Given the description of an element on the screen output the (x, y) to click on. 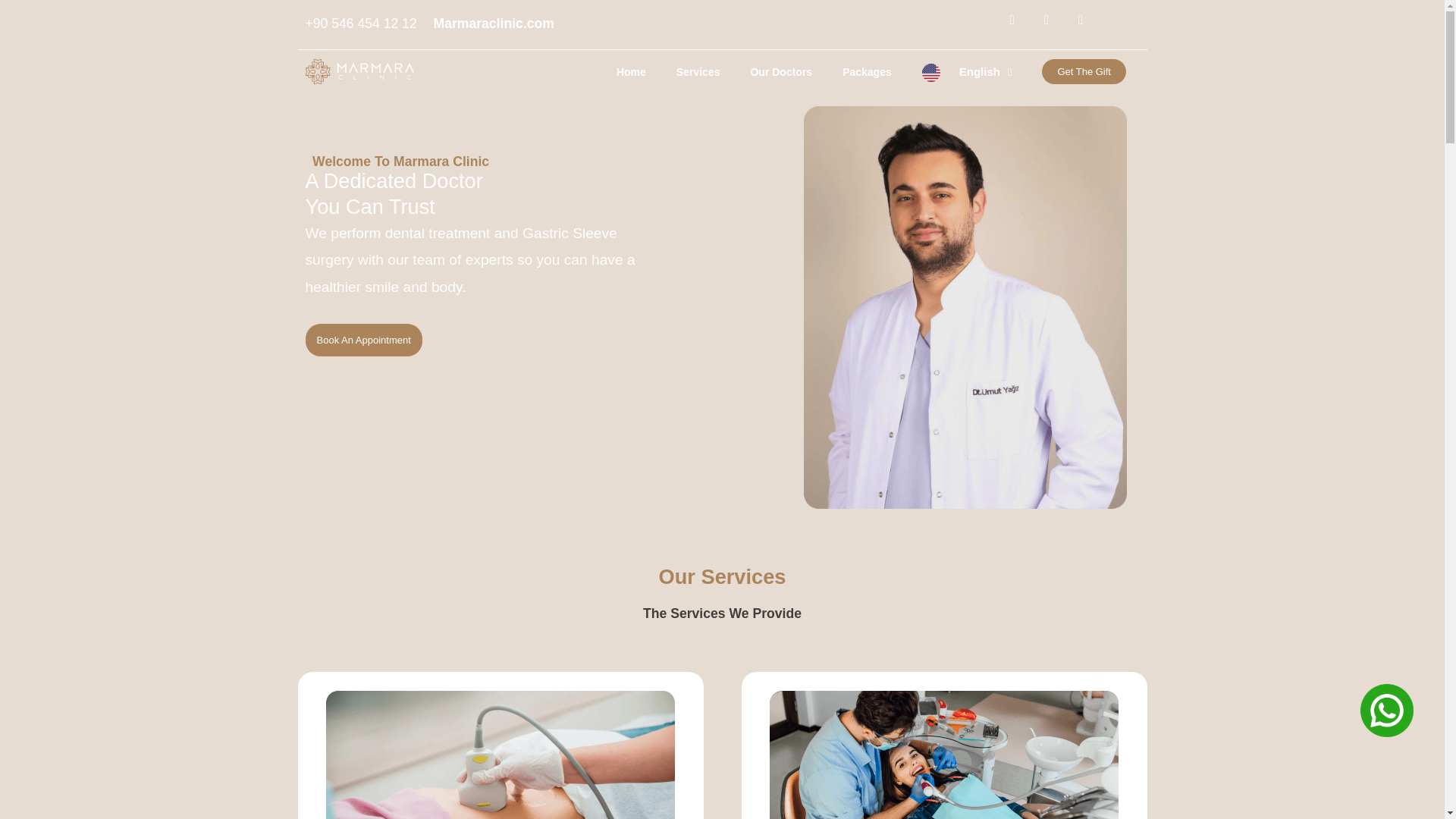
Our Doctors (781, 71)
Services (698, 71)
Get The Gift (1083, 71)
Book An Appointment (363, 339)
Home (631, 71)
English (967, 71)
Packages (867, 71)
